Given the description of an element on the screen output the (x, y) to click on. 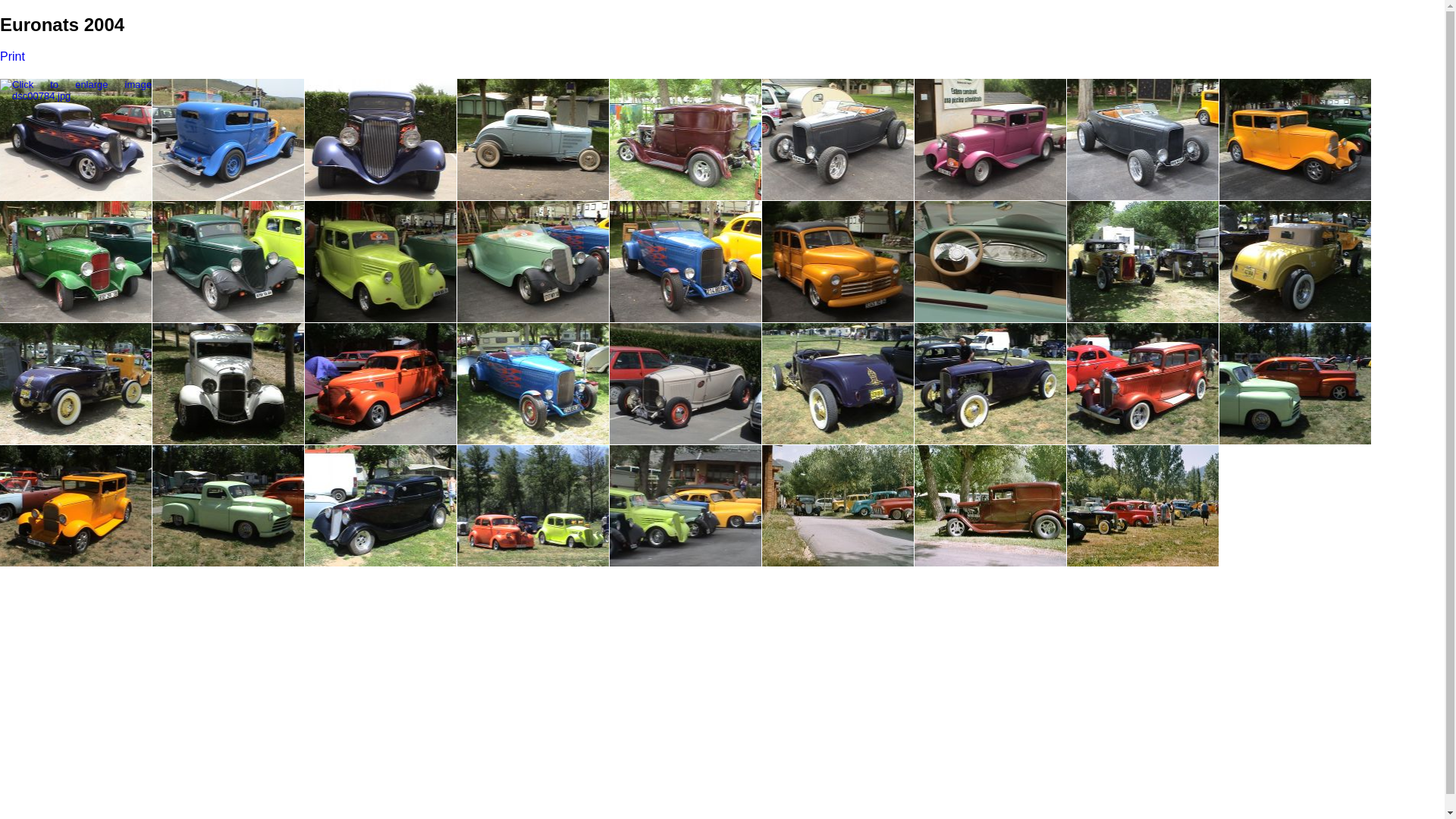
You are viewing the image with filename large30.jpg Element type: hover (1142, 505)
You are viewing the image with filename dsc01260.jpg Element type: hover (685, 505)
You are viewing the image with filename dsc00855.jpg Element type: hover (75, 505)
You are viewing the image with filename dsc00797.jpg Element type: hover (837, 139)
You are viewing the image with filename dsc00791.jpg Element type: hover (532, 139)
You are viewing the image with filename dsc00800.jpg Element type: hover (1142, 139)
You are viewing the image with filename dsc00843.jpg Element type: hover (990, 383)
You are viewing the image with filename dsc00806.jpg Element type: hover (380, 261)
You are viewing the image with filename dsc00821.jpg Element type: hover (75, 383)
You are viewing the image with filename dsc00831.jpg Element type: hover (685, 383)
You are viewing the image with filename dsc00805.jpg Element type: hover (228, 261)
You are viewing the image with filename dsc00822.jpg Element type: hover (228, 383)
You are viewing the image with filename dsc00784.jpg Element type: hover (75, 139)
You are viewing the image with filename large25.jpg Element type: hover (837, 505)
Print Element type: text (12, 56)
You are viewing the image with filename dsc00823.jpg Element type: hover (380, 383)
You are viewing the image with filename dsc00829.jpg Element type: hover (532, 383)
You are viewing the image with filename dsc00808.jpg Element type: hover (685, 261)
You are viewing the image with filename dsc00818.jpg Element type: hover (1142, 261)
You are viewing the image with filename dsc00857.jpg Element type: hover (228, 505)
You are viewing the image with filename dsc00801.jpg Element type: hover (1295, 139)
You are viewing the image with filename dsc00785.jpg Element type: hover (228, 139)
You are viewing the image with filename dsc00794.jpg Element type: hover (685, 139)
You are viewing the image with filename dsc00841.jpg Element type: hover (837, 383)
You are viewing the image with filename dsc00858.jpg Element type: hover (380, 505)
You are viewing the image with filename dsc00810.jpg Element type: hover (837, 261)
You are viewing the image with filename large26.jpg Element type: hover (990, 505)
You are viewing the image with filename dsc00820.jpg Element type: hover (1295, 261)
You are viewing the image with filename dsc00807.jpg Element type: hover (532, 261)
You are viewing the image with filename dsc00859.jpg Element type: hover (532, 505)
You are viewing the image with filename dsc00799.jpg Element type: hover (990, 139)
You are viewing the image with filename dsc00787.jpg Element type: hover (380, 139)
You are viewing the image with filename dsc00804.jpg Element type: hover (75, 261)
You are viewing the image with filename dsc00811.jpg Element type: hover (990, 261)
You are viewing the image with filename dsc00846.jpg Element type: hover (1295, 383)
You are viewing the image with filename dsc00845.jpg Element type: hover (1142, 383)
